Given the description of an element on the screen output the (x, y) to click on. 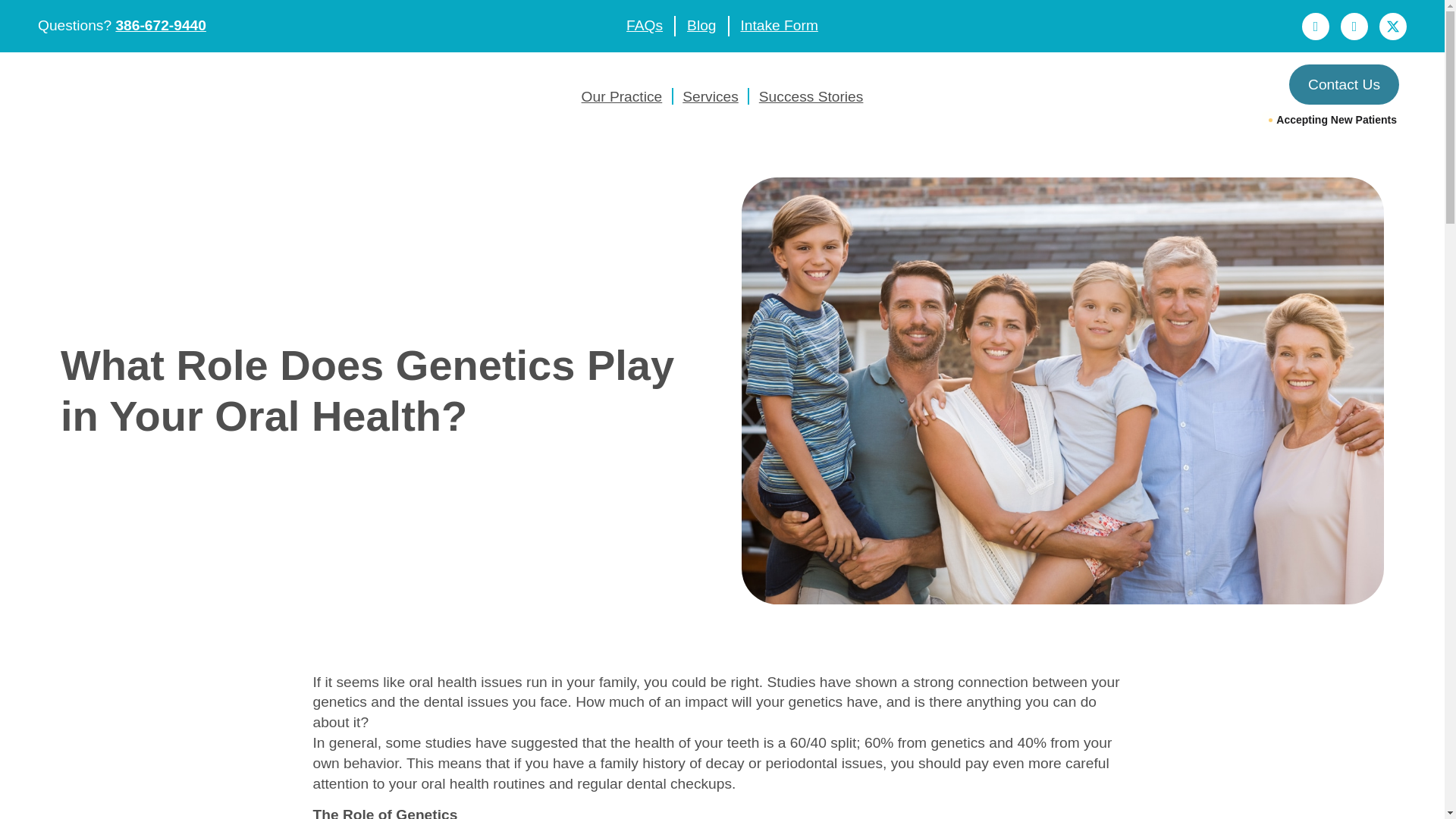
FAQs (644, 25)
Our Practice (621, 96)
Studies have shown (832, 682)
Success Stories (810, 96)
386-672-9440 (160, 25)
Blog (701, 25)
Contact Us (1343, 84)
Services (710, 96)
Intake Form (777, 25)
